Given the description of an element on the screen output the (x, y) to click on. 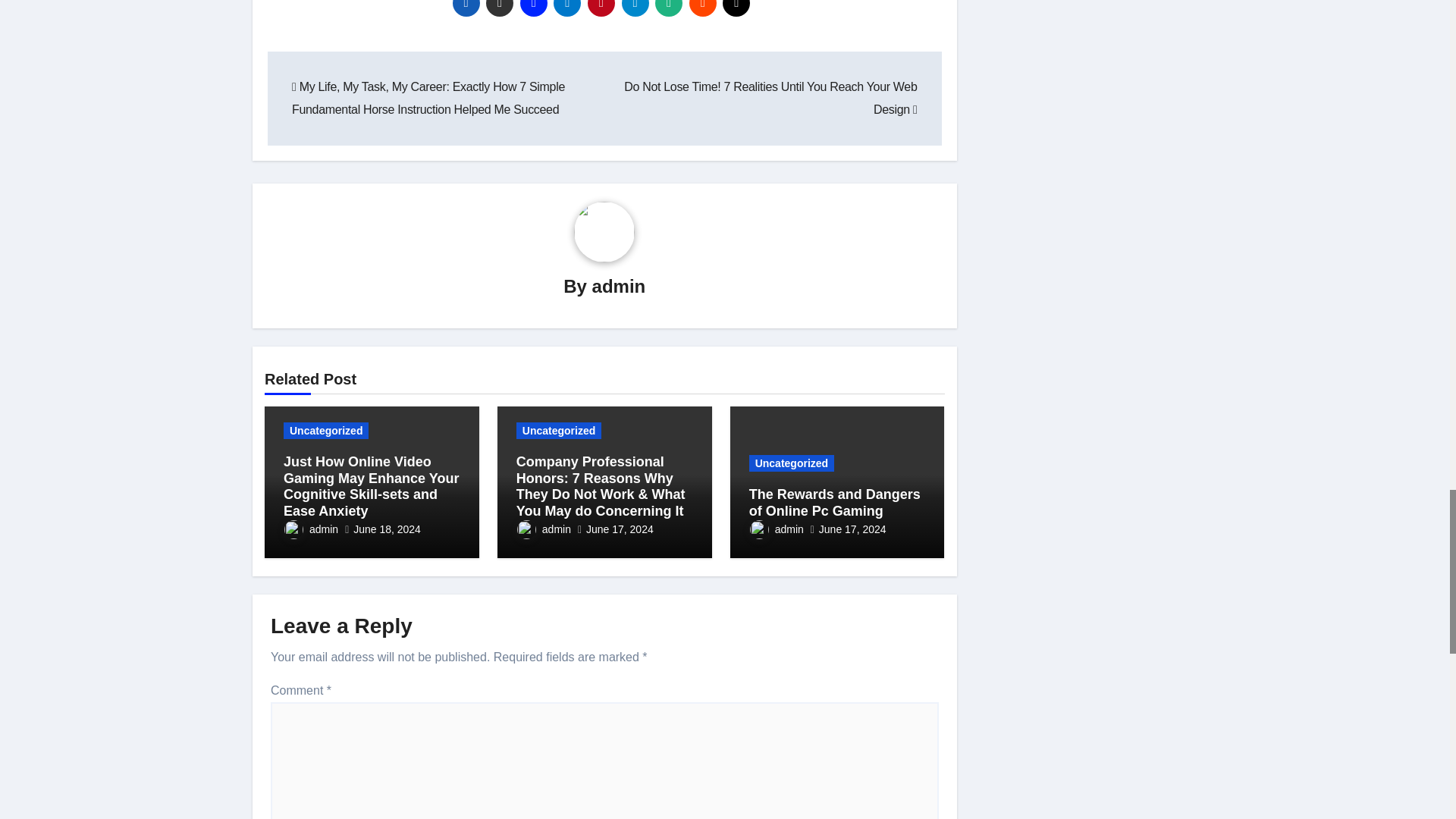
admin (619, 286)
Uncategorized (325, 430)
admin (310, 529)
Permalink to: The Rewards and Dangers of Online Pc Gaming (834, 502)
